Given the description of an element on the screen output the (x, y) to click on. 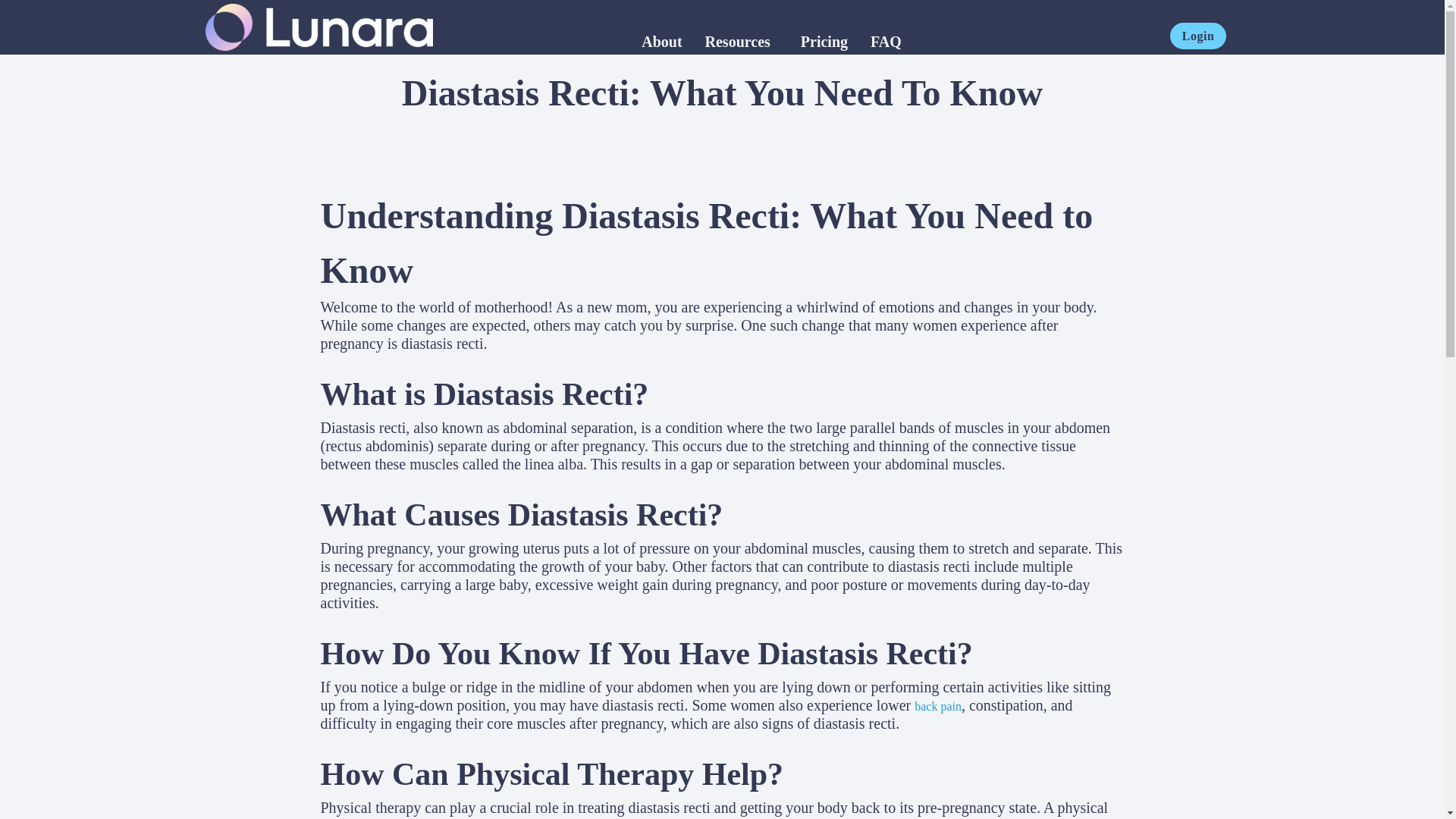
Resources (737, 41)
About (661, 41)
Pricing (823, 41)
back pain (937, 706)
Login (1198, 35)
FAQ (885, 41)
back pain (937, 706)
